Given the description of an element on the screen output the (x, y) to click on. 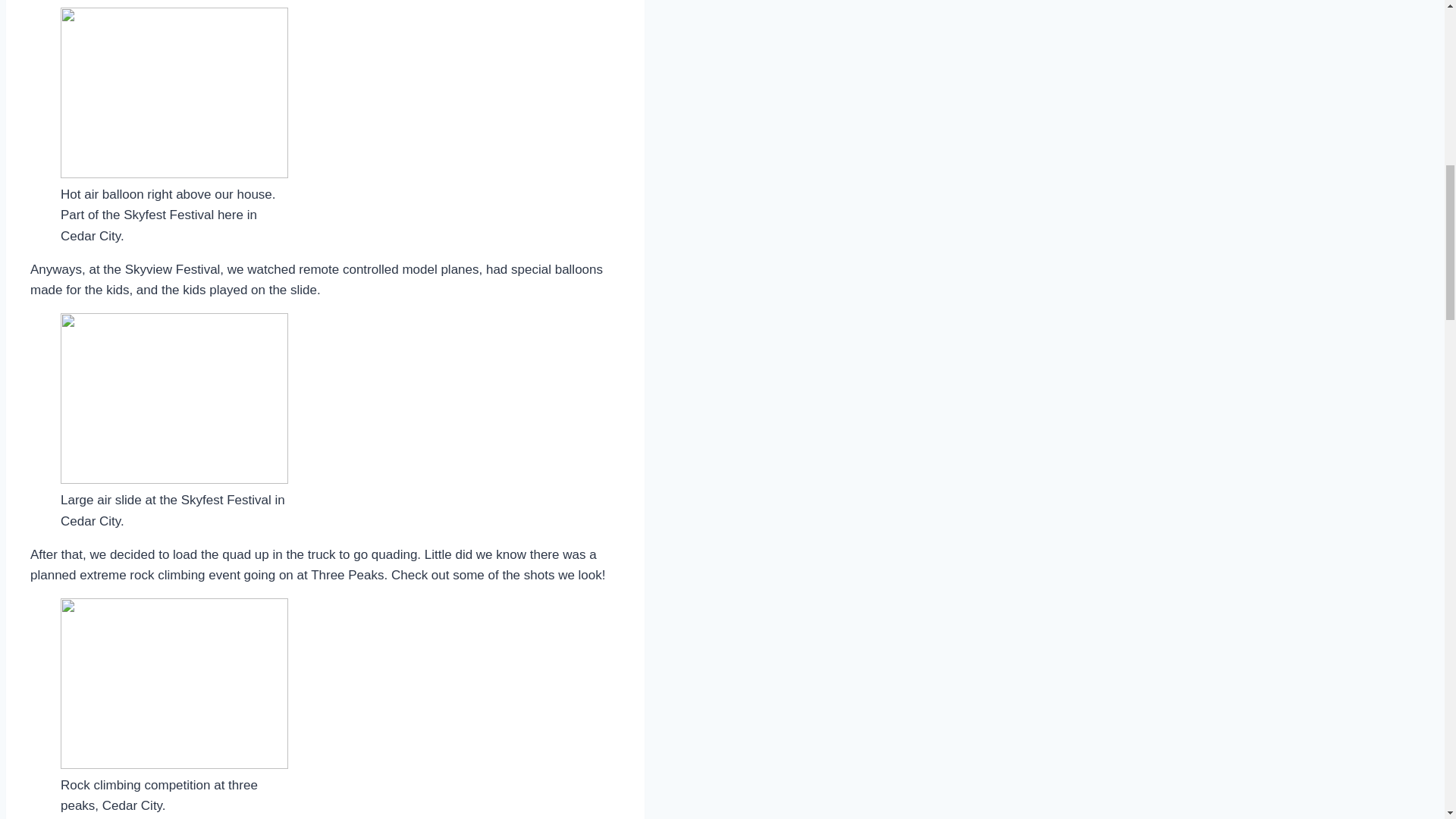
Rock climbing competition at three peaks, Cedar City. (174, 683)
Large air slide at the Skyfest Festival in Cedar City. (174, 398)
